Given the description of an element on the screen output the (x, y) to click on. 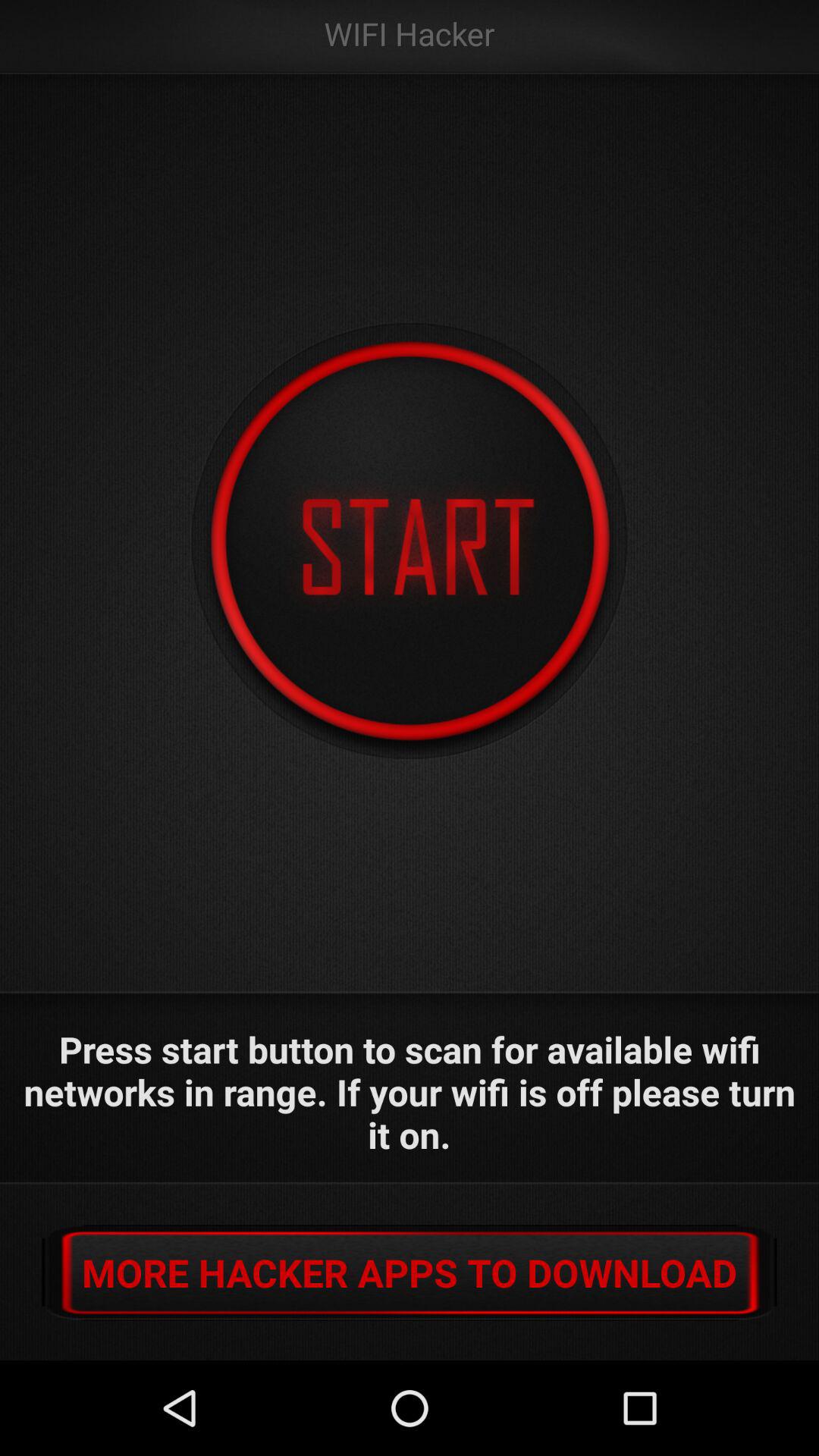
start to scan (409, 541)
